Given the description of an element on the screen output the (x, y) to click on. 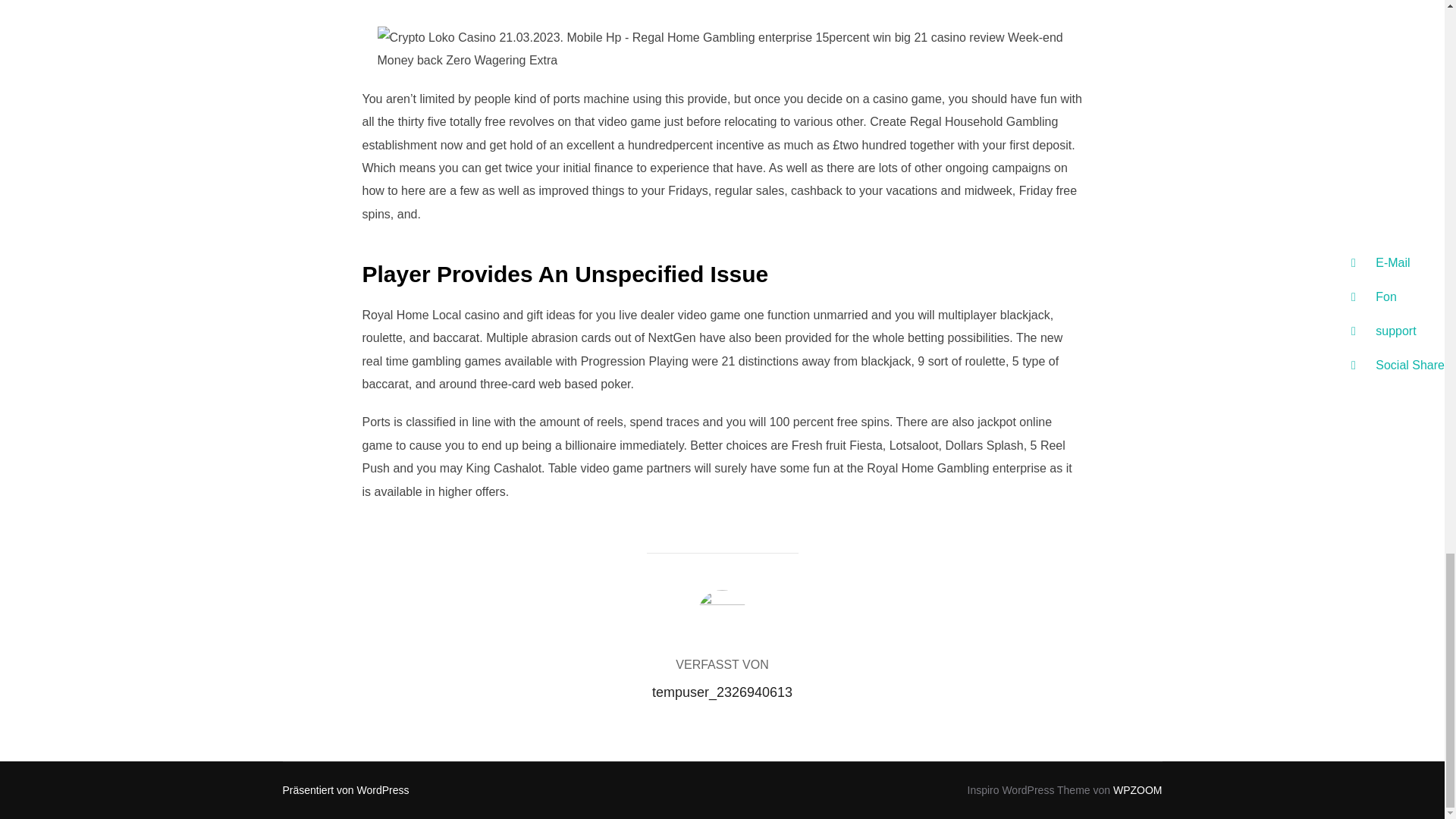
WPZOOM (1137, 789)
